Given the description of an element on the screen output the (x, y) to click on. 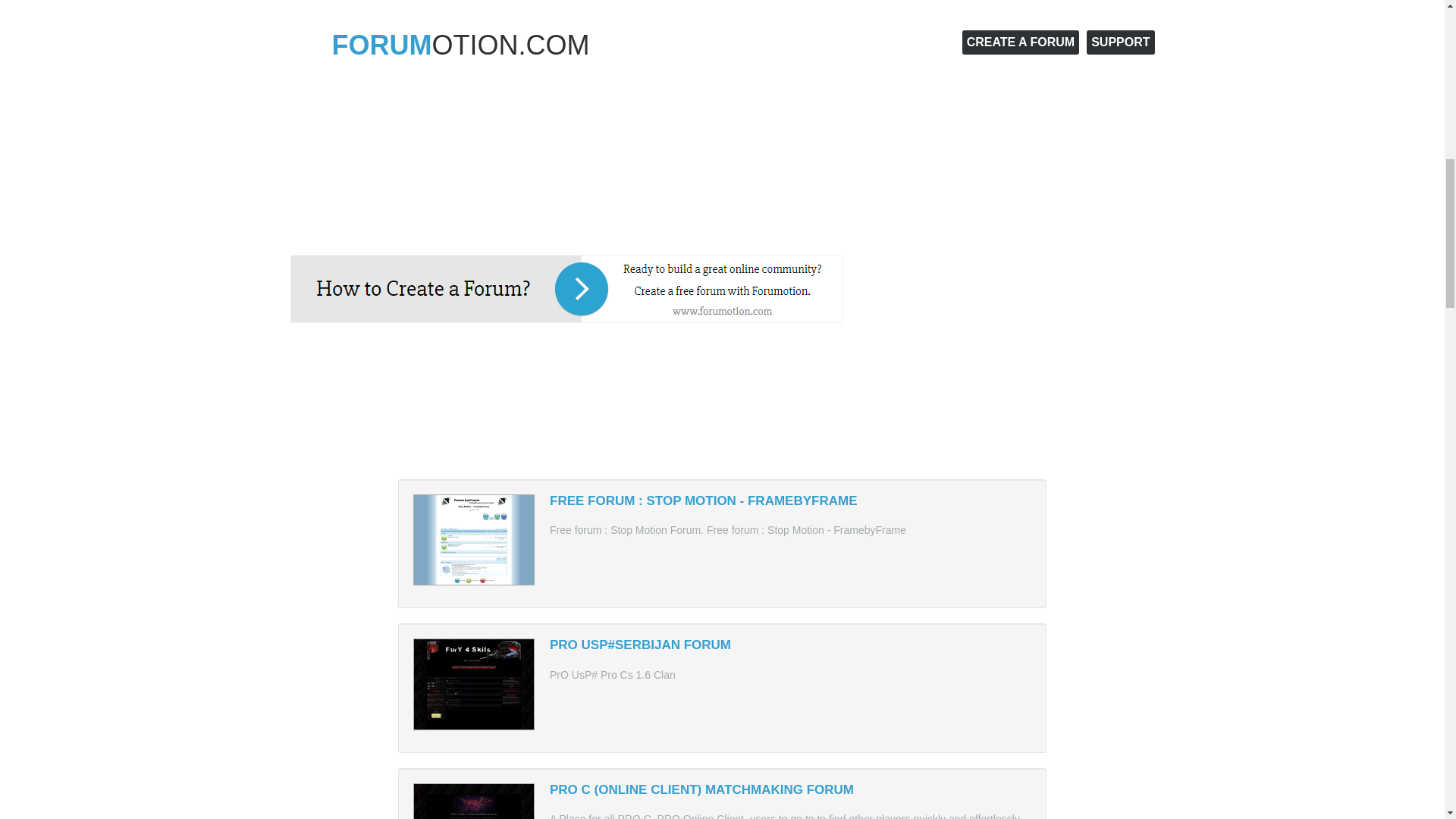
FREE FORUM : STOP MOTION - FRAMEBYFRAME (703, 500)
Free forum : Stop Motion - FramebyFrame (703, 500)
